Given the description of an element on the screen output the (x, y) to click on. 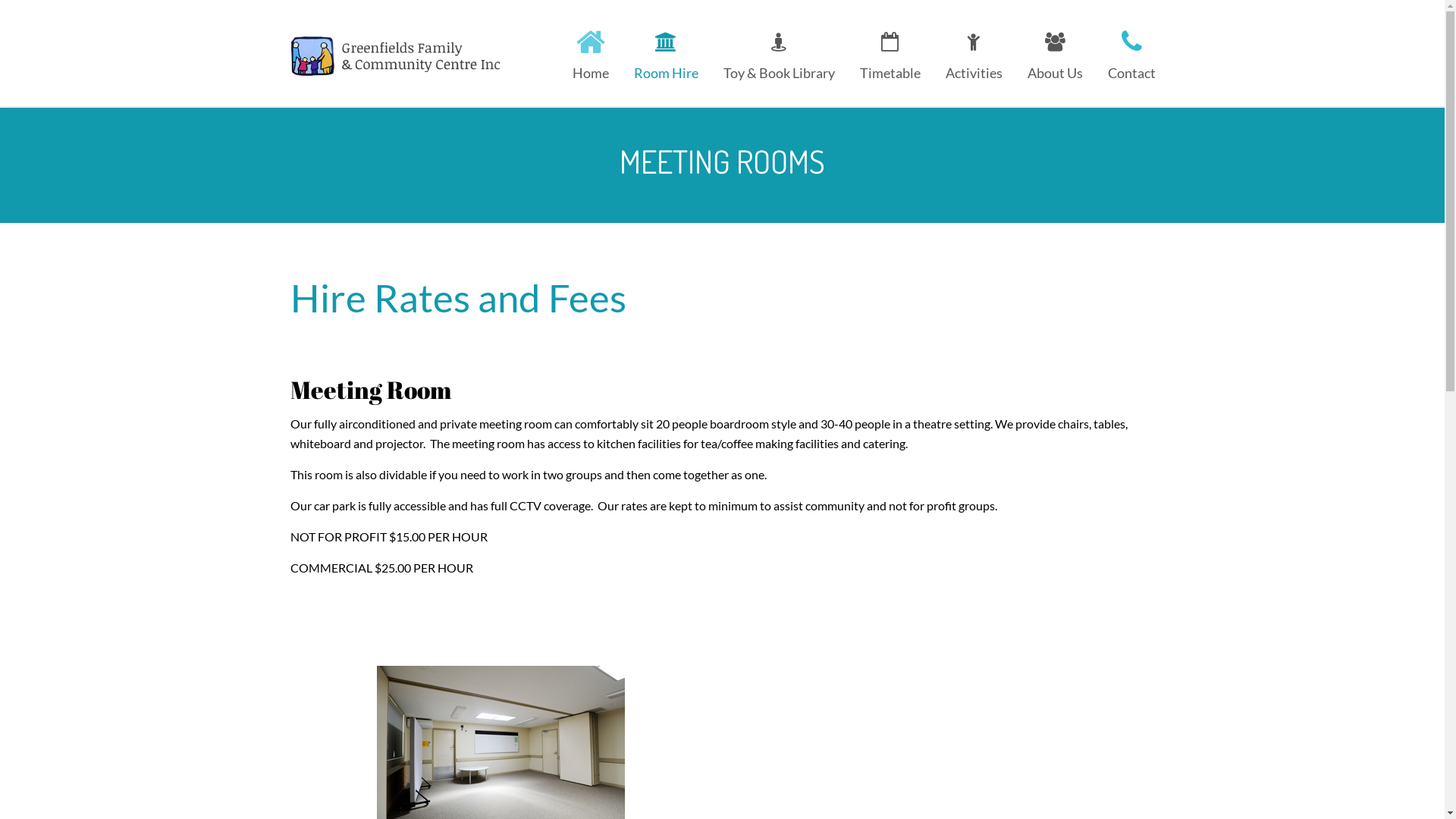
Home Element type: text (590, 52)
Activities Element type: text (973, 52)
Room Hire Element type: text (665, 52)
About Us Element type: text (1055, 52)
Contact Element type: text (1125, 52)
Toy & Book Library Element type: text (778, 52)
Timetable Element type: text (889, 52)
